Given the description of an element on the screen output the (x, y) to click on. 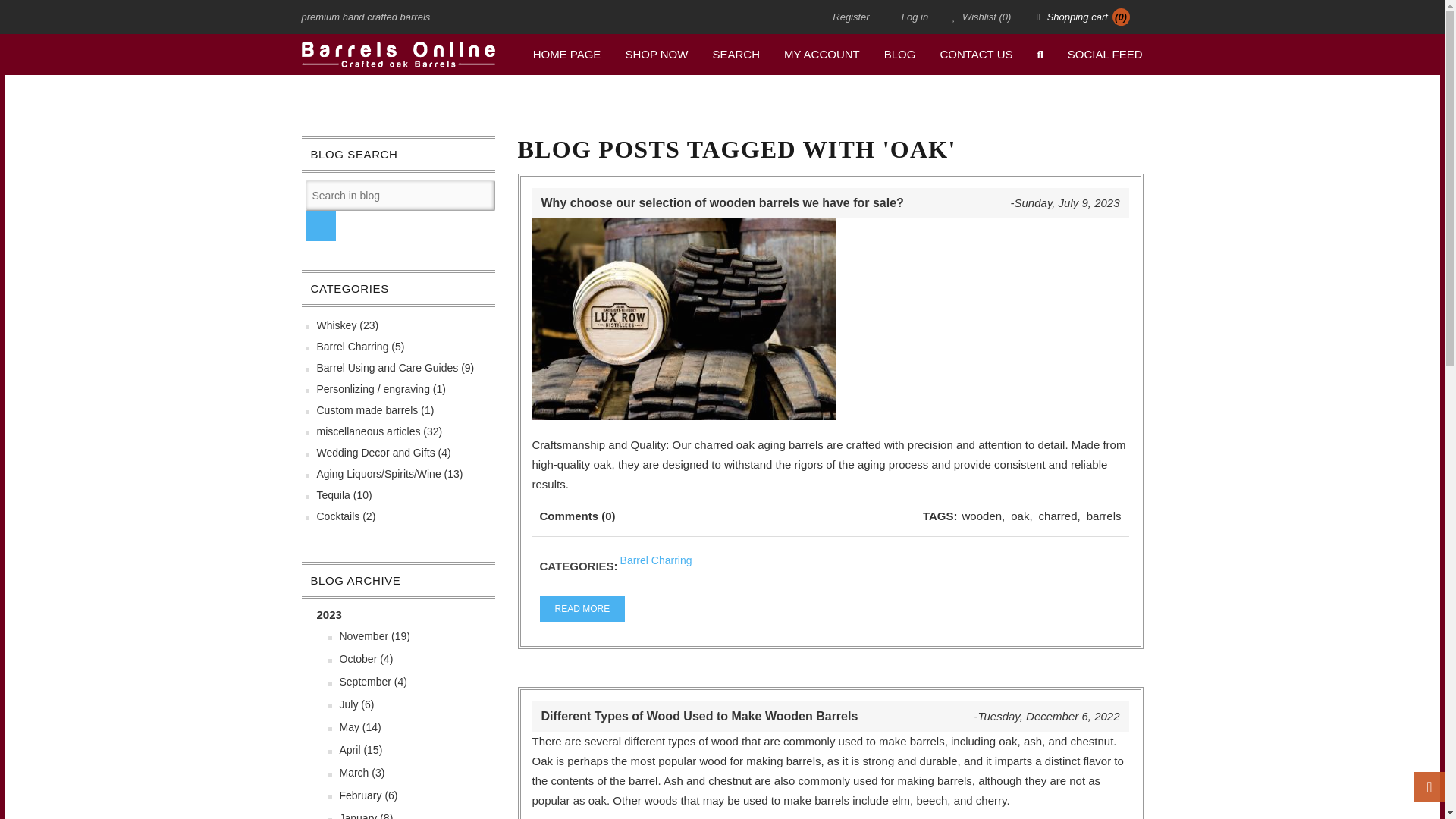
SOCIAL FEED (1104, 54)
MY ACCOUNT (821, 54)
BLOG (899, 54)
CONTACT US (975, 54)
SHOP NOW (656, 54)
Social Feed (1104, 54)
Register (854, 17)
SEARCH (735, 54)
HOME PAGE (566, 54)
